Given the description of an element on the screen output the (x, y) to click on. 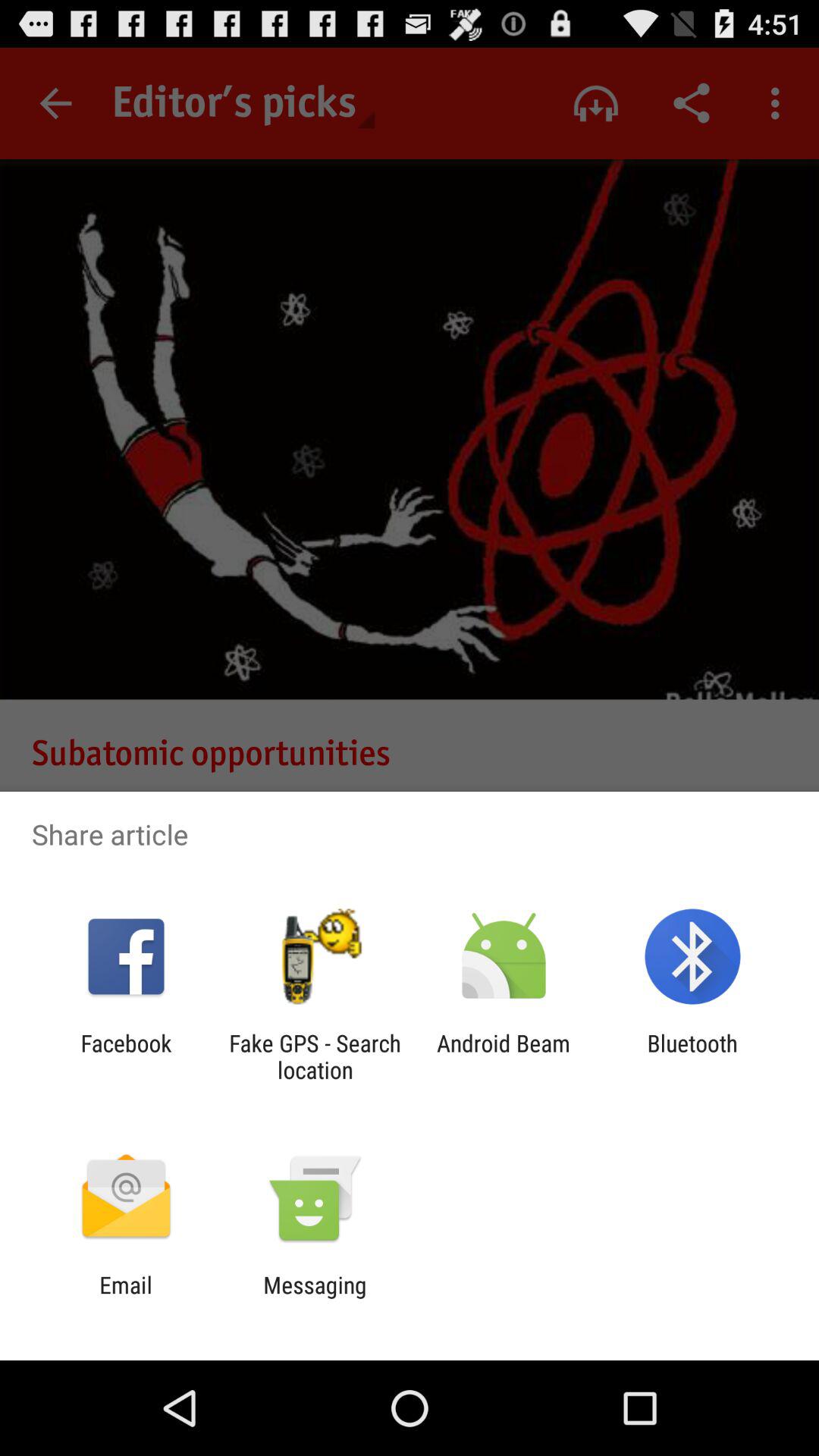
select the item next to the email item (314, 1298)
